Given the description of an element on the screen output the (x, y) to click on. 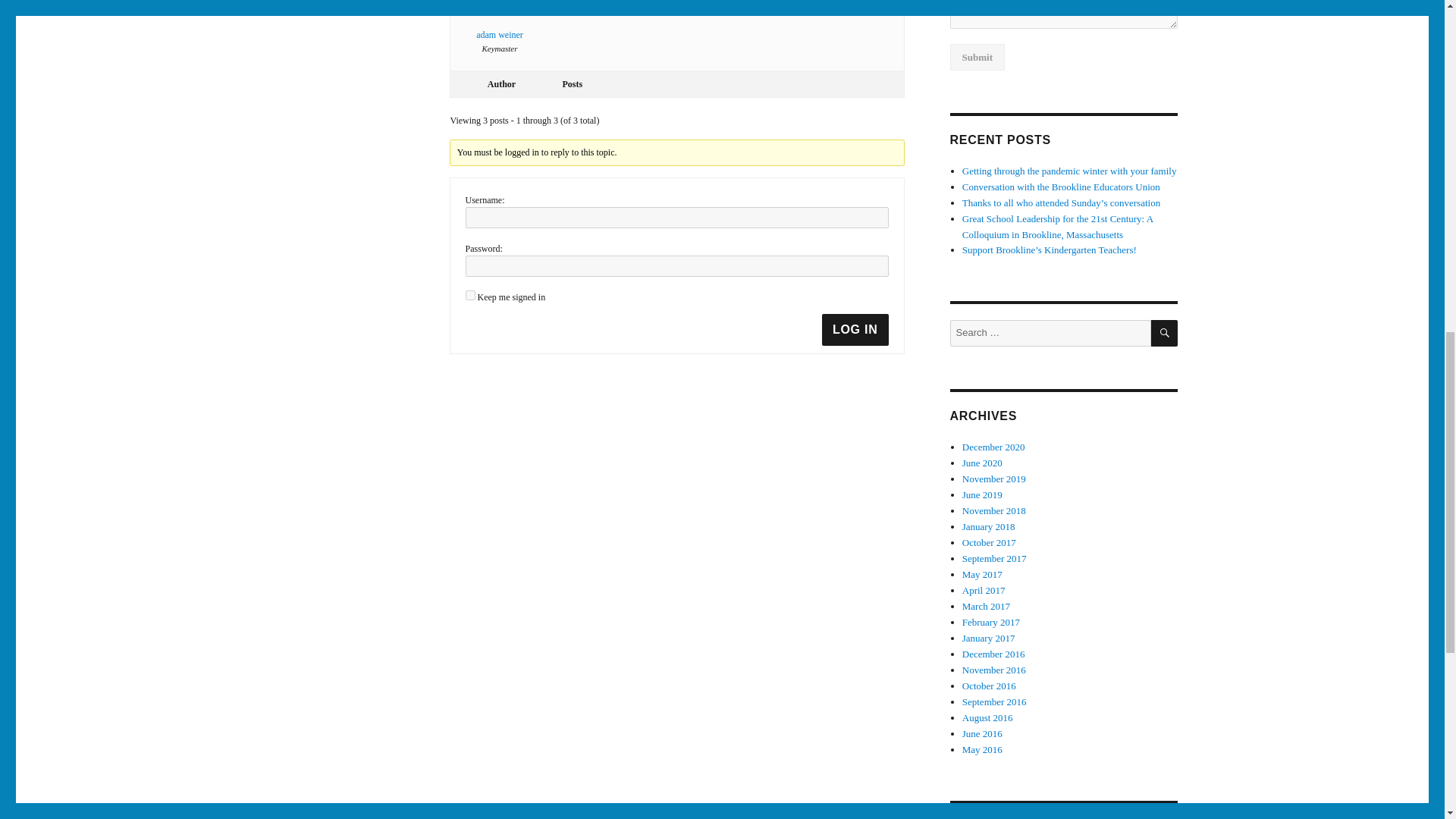
adam weiner (500, 20)
Getting through the pandemic winter with your family (1069, 170)
Submit (976, 57)
View adam weiner's profile (500, 20)
LOG IN (855, 329)
Conversation with the Brookline Educators Union (1061, 186)
forever (470, 295)
